Given the description of an element on the screen output the (x, y) to click on. 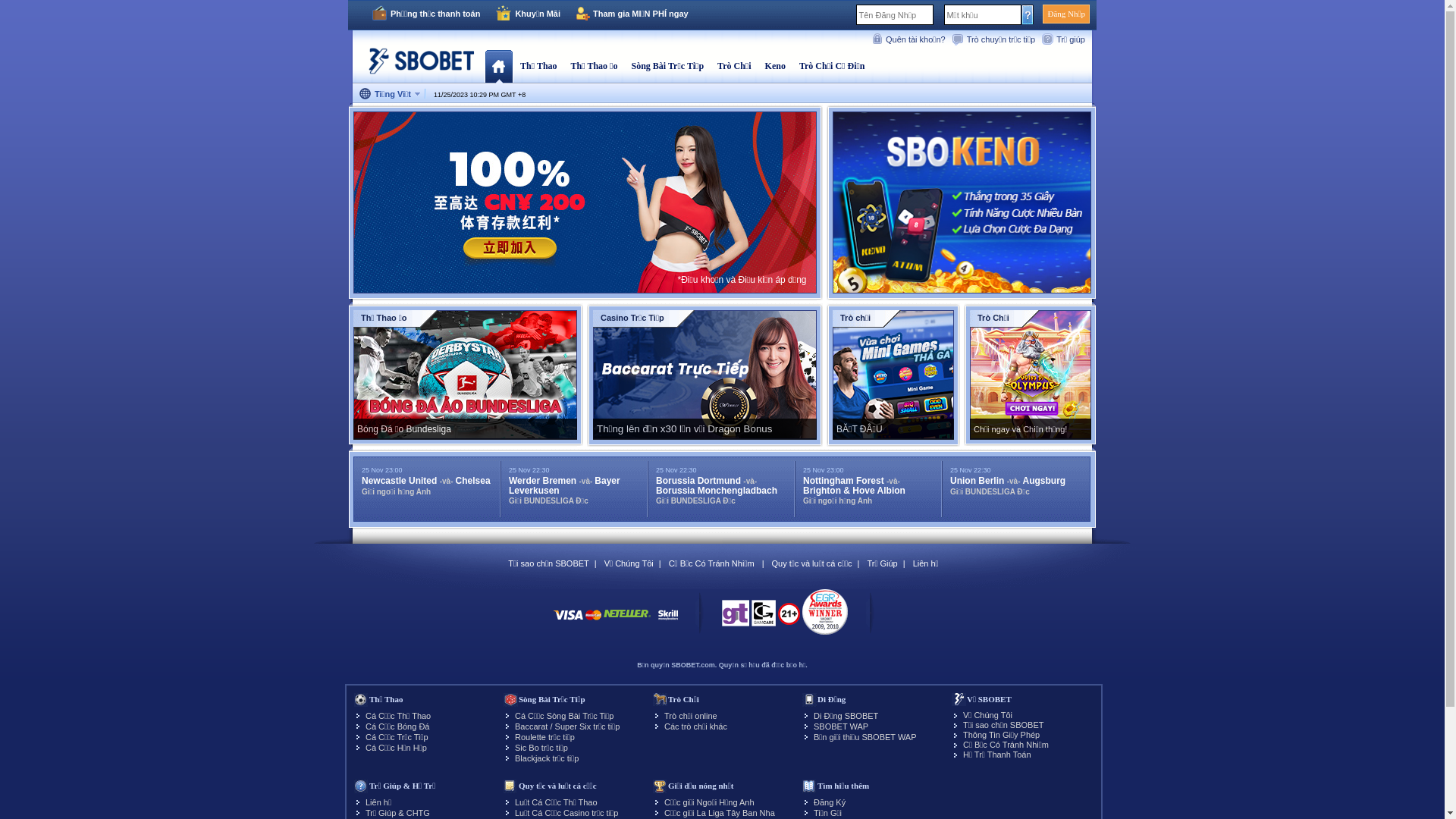
SBOBET WAP Element type: text (840, 726)
Keno Element type: text (775, 65)
+ Element type: text (519, 94)
